Given the description of an element on the screen output the (x, y) to click on. 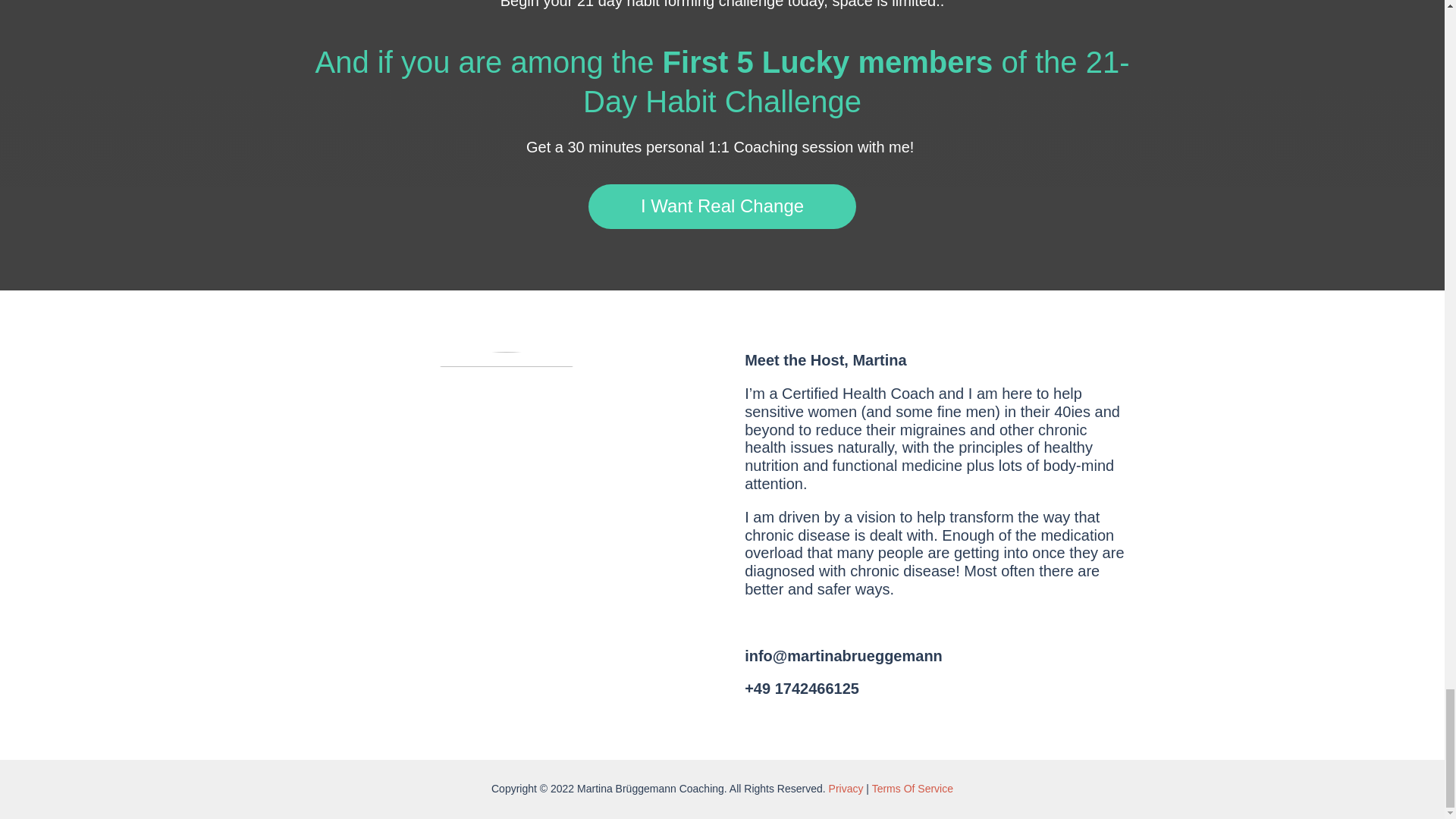
Martina (506, 506)
Terms Of Service (912, 788)
Privacy (845, 788)
I Want Real Change (722, 206)
